Given the description of an element on the screen output the (x, y) to click on. 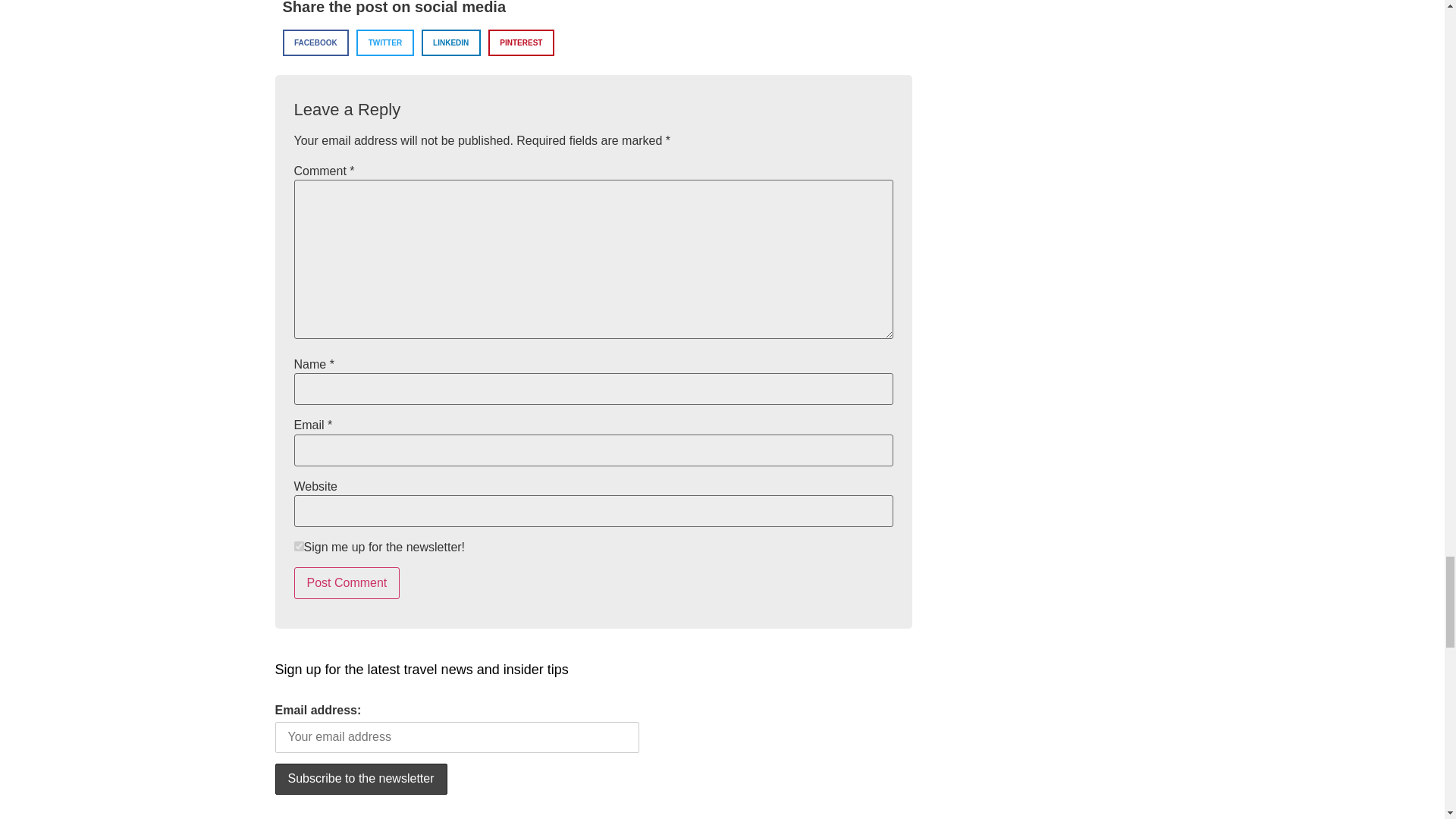
Post Comment (347, 582)
1 (299, 546)
Subscribe to the newsletter (360, 778)
